Given the description of an element on the screen output the (x, y) to click on. 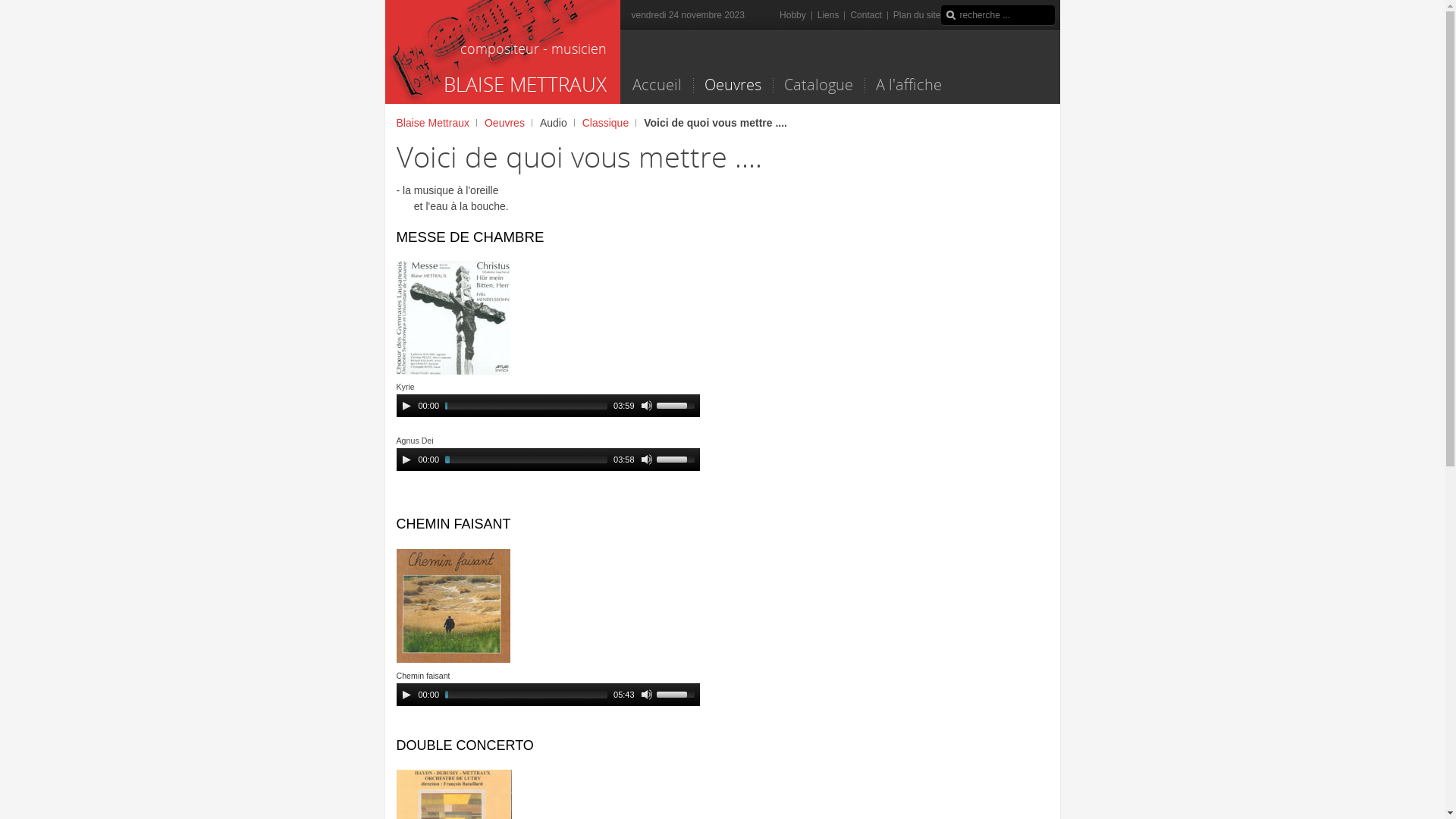
Play Element type: hover (406, 694)
compositeur - musicien
BLAISE METTRAUX Element type: text (502, 51)
Oeuvres Element type: text (732, 84)
Play Element type: hover (406, 459)
Classique Element type: text (609, 122)
Mute Element type: hover (646, 694)
Oeuvres Element type: text (508, 122)
Reset Element type: text (3, 3)
Mute Element type: hover (646, 405)
Accueil Element type: text (656, 84)
Liens Element type: text (828, 15)
Catalogue Element type: text (817, 84)
Play Element type: hover (406, 405)
Hobby Element type: text (792, 15)
Plan du site Element type: text (917, 15)
Blaise Mettraux Element type: text (435, 122)
Contact Element type: text (865, 15)
A l'affiche Element type: text (908, 84)
Mute Element type: hover (646, 459)
